Given the description of an element on the screen output the (x, y) to click on. 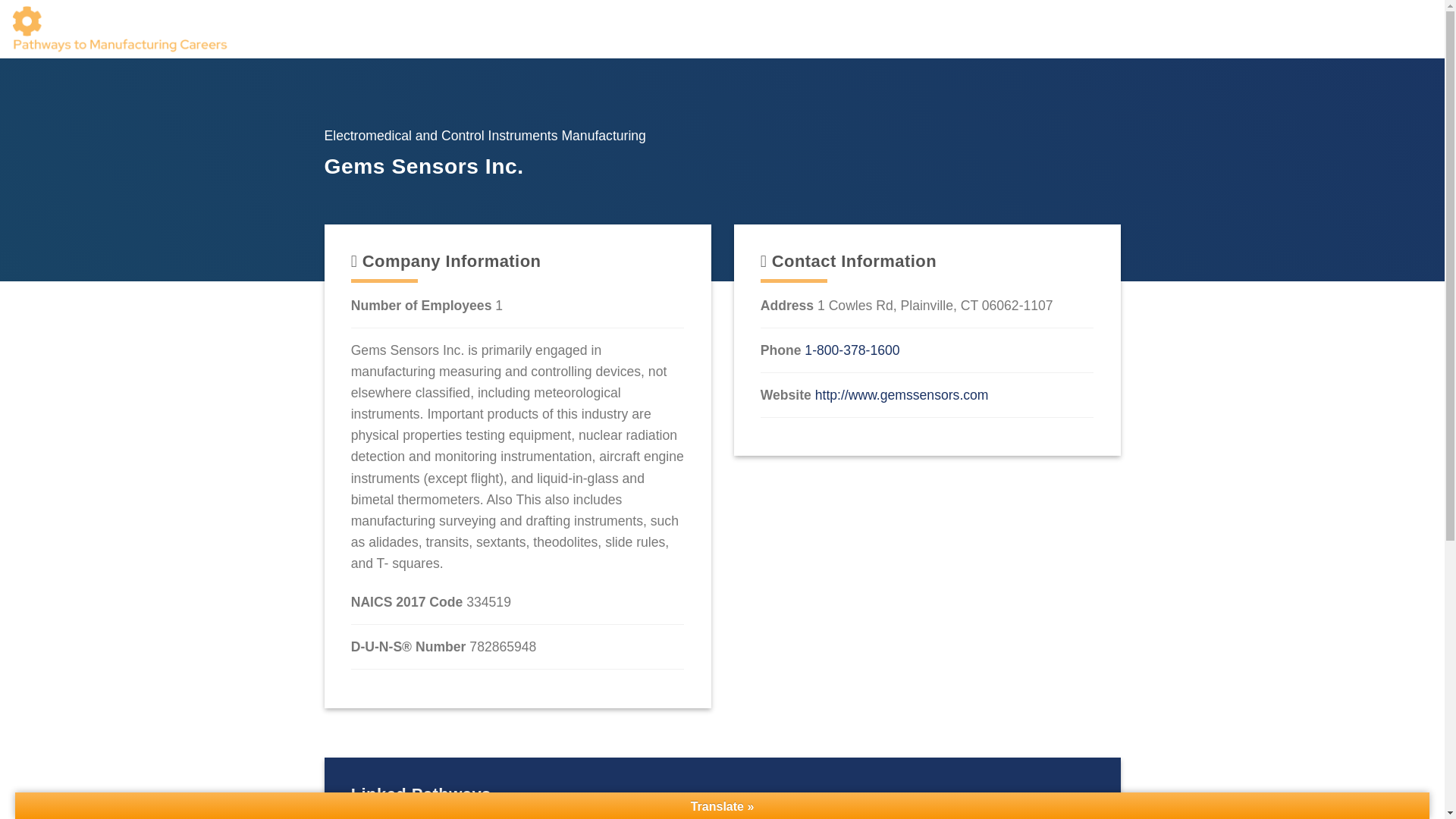
Students (1167, 29)
1-800-378-1600 (852, 350)
Schools (794, 29)
Contact (1409, 29)
Pathways (1095, 29)
Resources (1335, 29)
MFG in CT (1246, 29)
Companies (1015, 29)
Workforce Resources (902, 29)
